Given the description of an element on the screen output the (x, y) to click on. 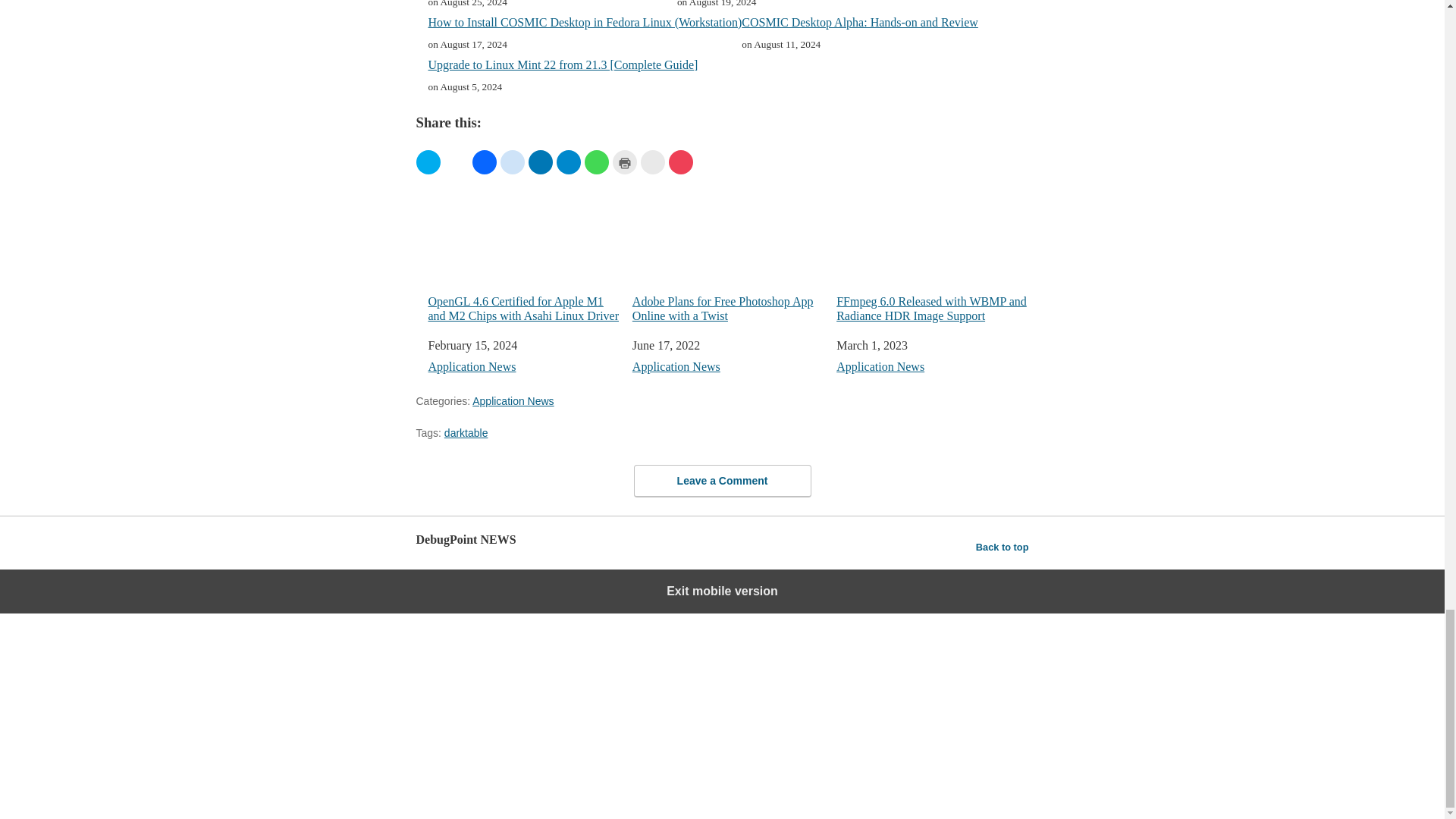
Click to share on Reddit (512, 161)
Application News (675, 366)
Click to share on Facebook (483, 161)
Click to share on Email (651, 161)
darktable (465, 432)
Print (624, 161)
Exit mobile version (722, 591)
Click to share on WhatsApp (595, 161)
Click to share on Twitter (426, 161)
Adobe Plans for Free Photoshop App Online with a Twist (727, 250)
